Given the description of an element on the screen output the (x, y) to click on. 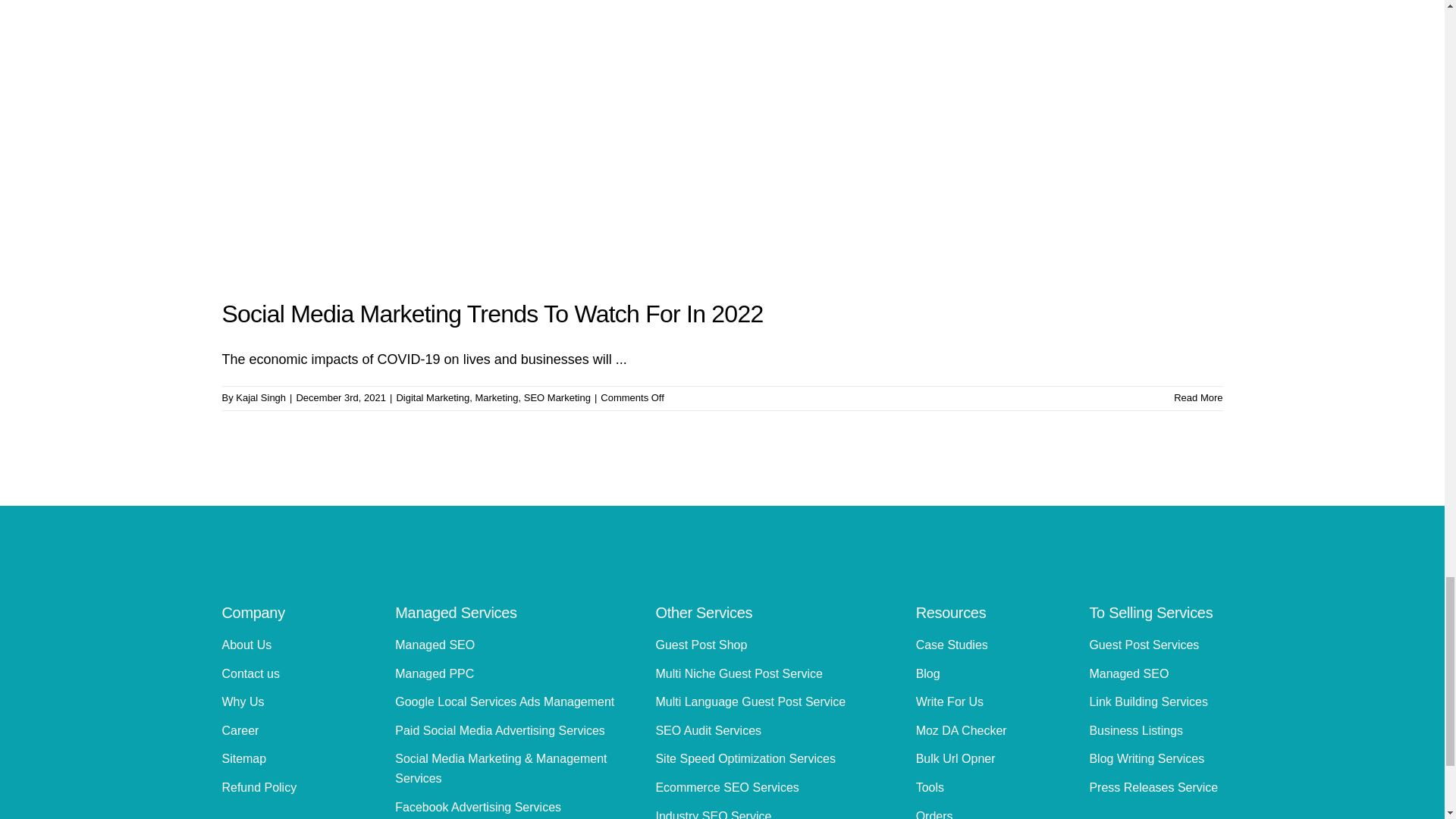
Posts by Kajal Singh (260, 397)
